Given the description of an element on the screen output the (x, y) to click on. 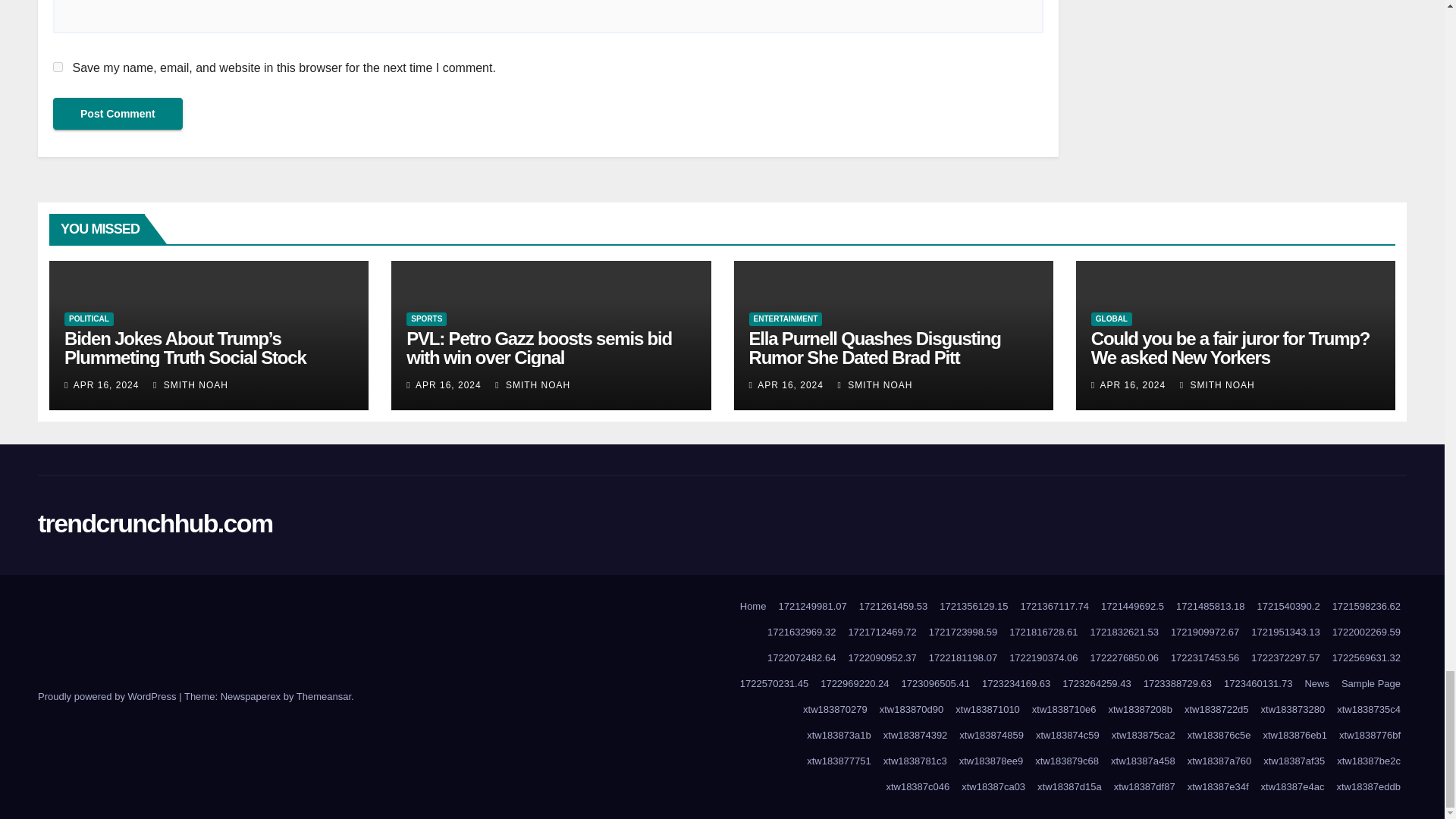
Post Comment (117, 113)
yes (57, 67)
